Given the description of an element on the screen output the (x, y) to click on. 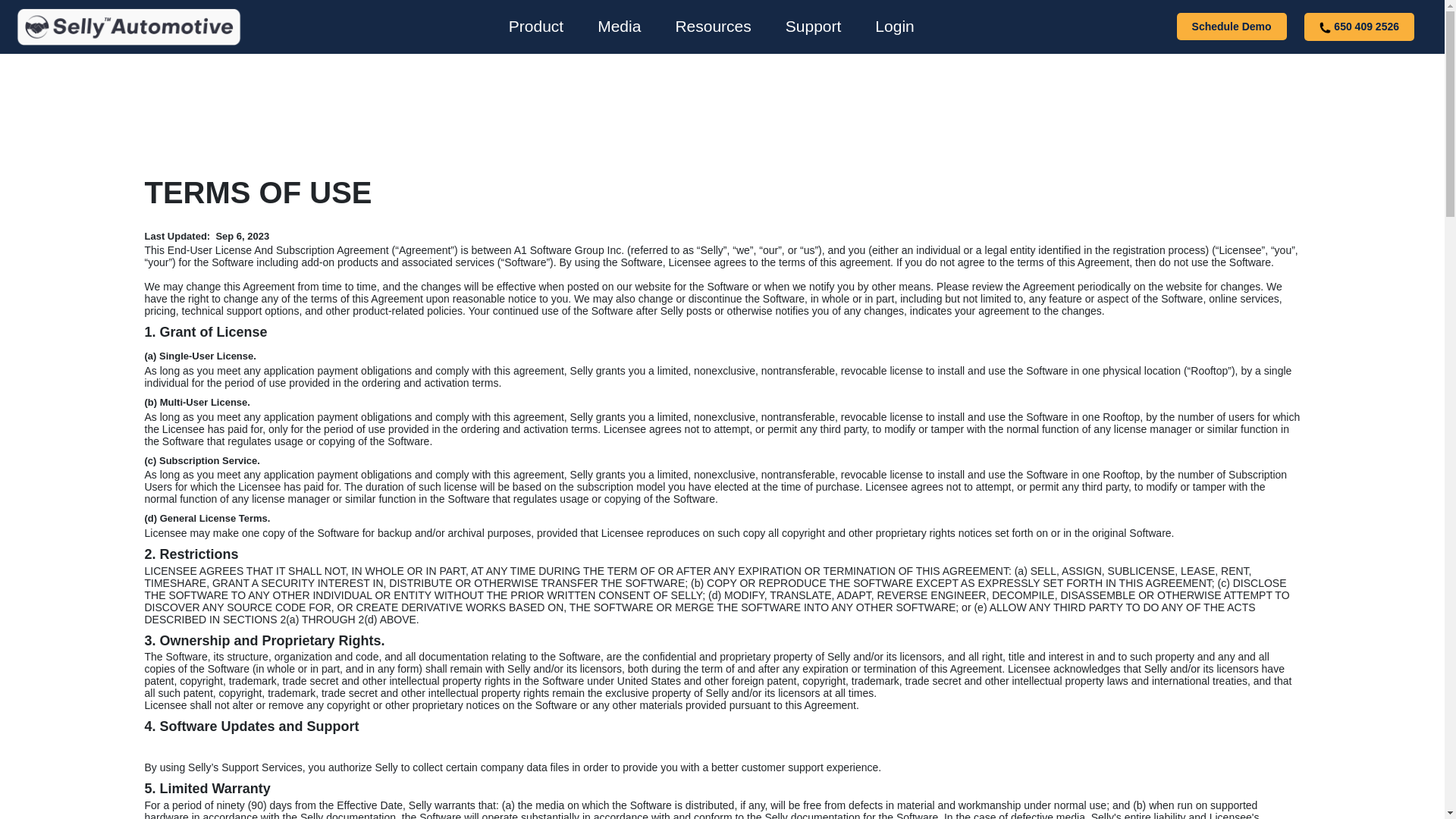
Product (535, 26)
Login (894, 26)
650 409 2526 (1358, 26)
Media (618, 26)
Support (813, 26)
Schedule Demo (1231, 26)
Resources (713, 26)
